Given the description of an element on the screen output the (x, y) to click on. 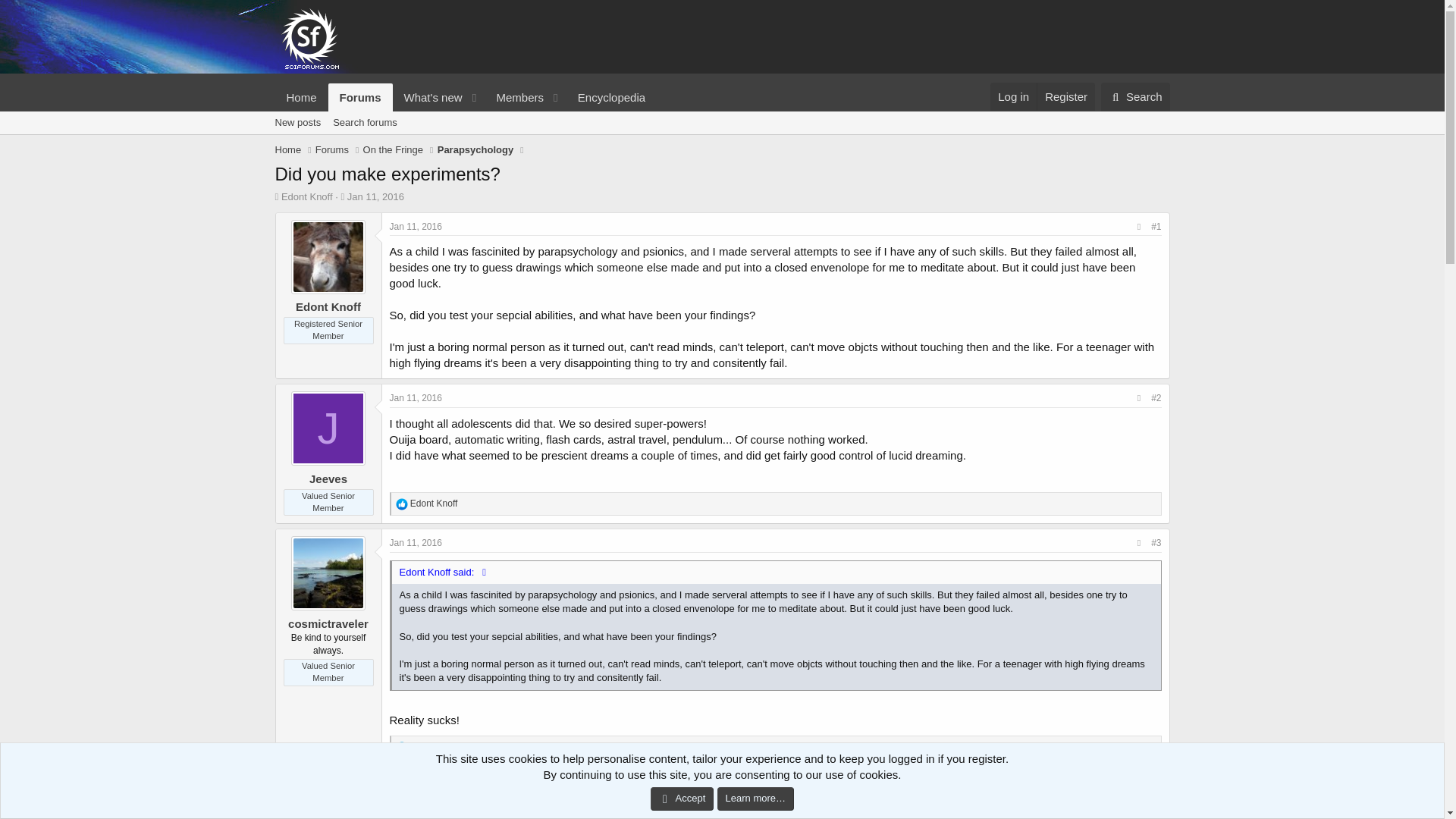
Jan 11, 2016 at 3:38 PM (416, 398)
Forums (361, 97)
Jan 12, 2016 at 11:23 AM (416, 786)
Members (514, 97)
What's new (428, 97)
On the Fringe (392, 150)
Edont Knoff (720, 139)
Like (464, 114)
